Given the description of an element on the screen output the (x, y) to click on. 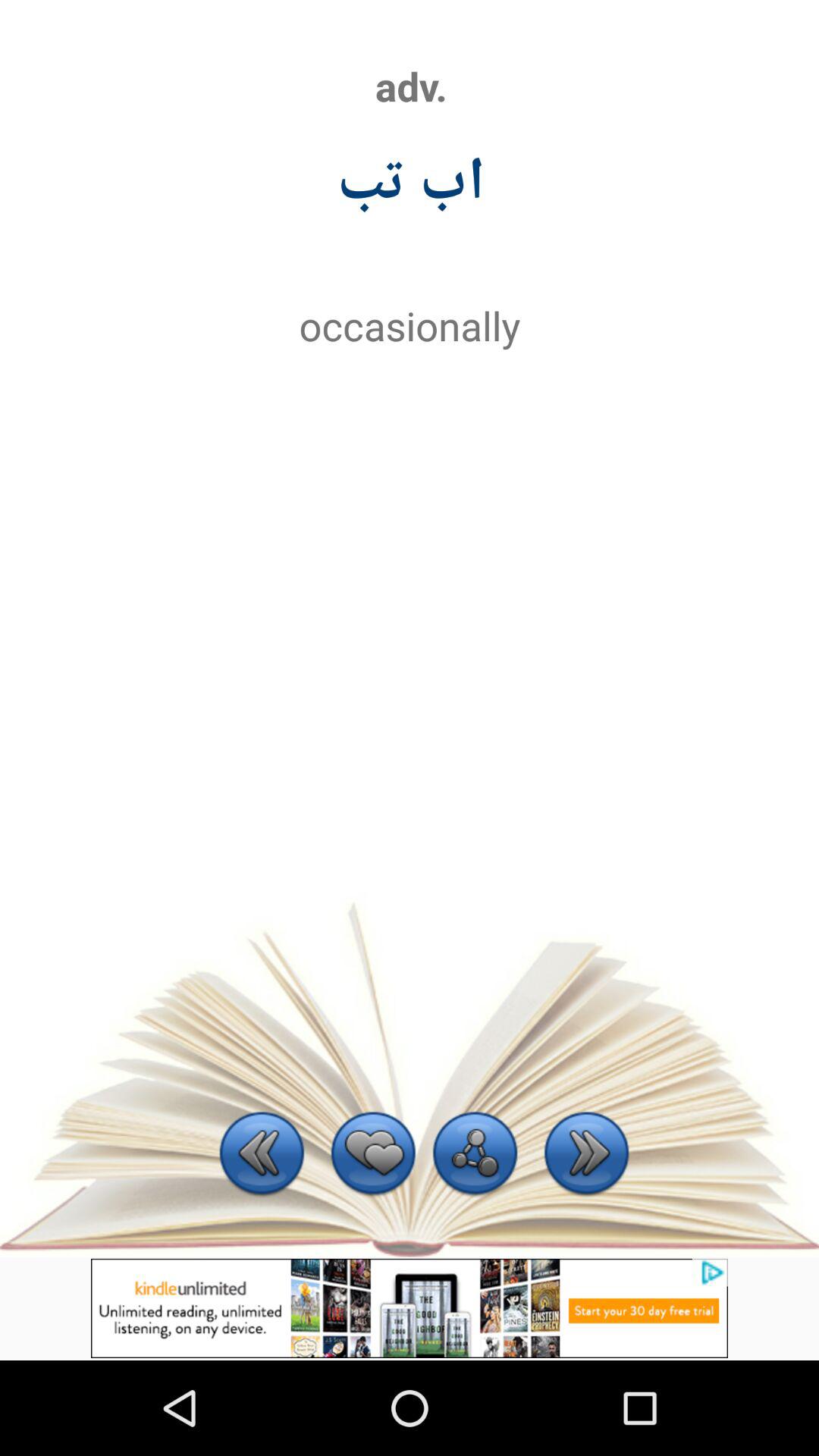
favorites (373, 1155)
